Given the description of an element on the screen output the (x, y) to click on. 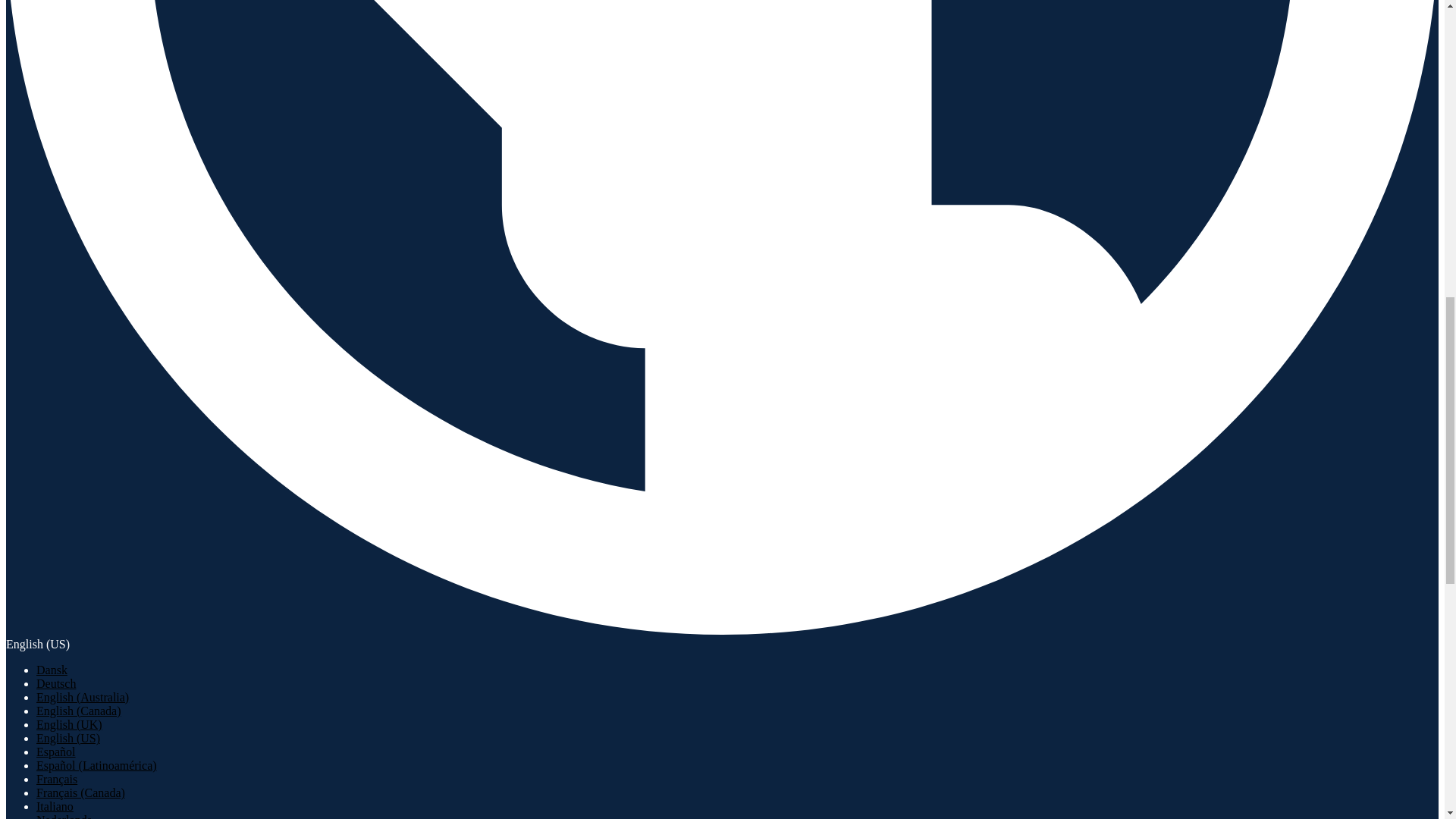
Deutsch (55, 683)
Dansk (51, 669)
Italiano (55, 806)
Nederlands (63, 816)
